Given the description of an element on the screen output the (x, y) to click on. 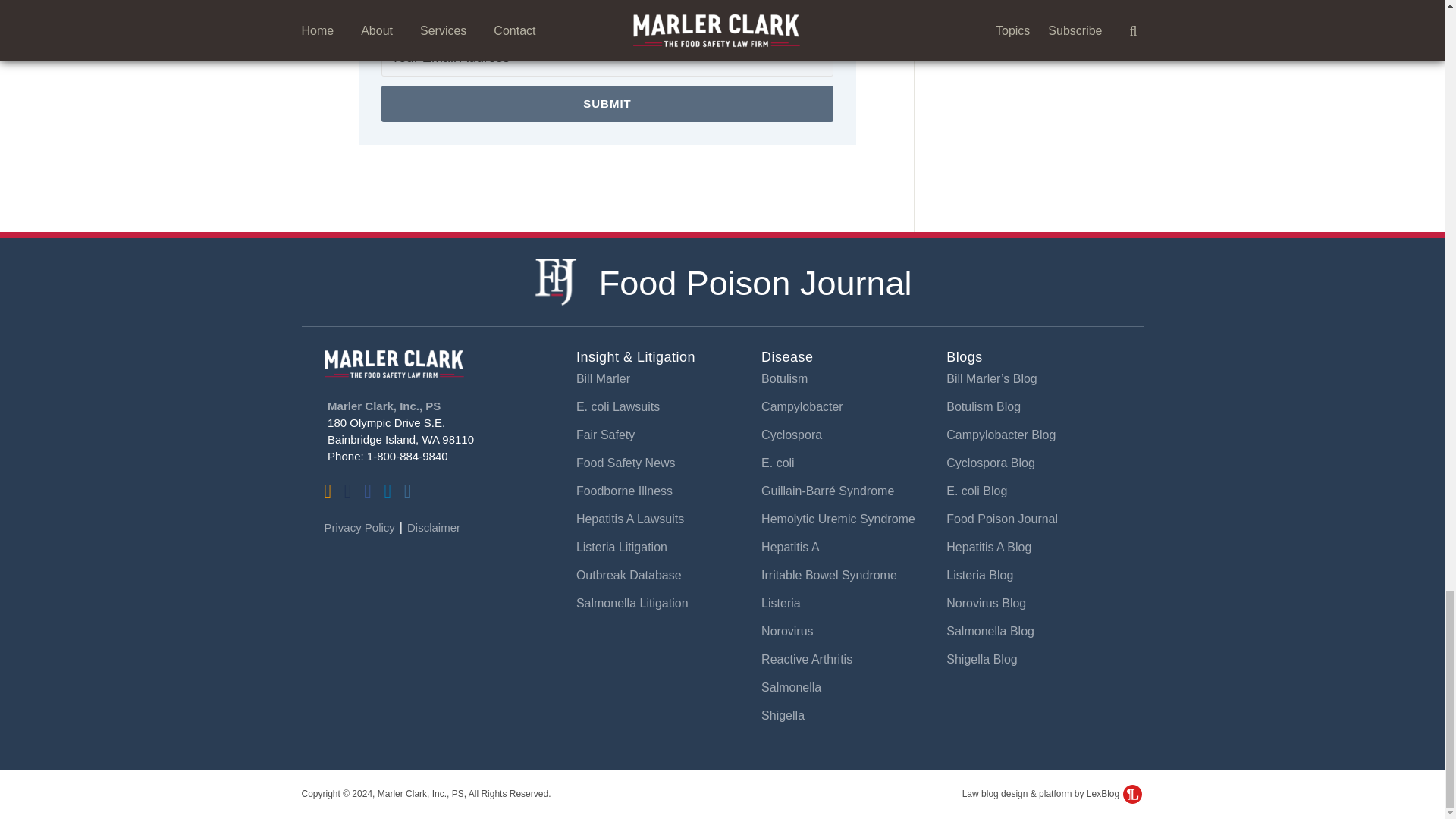
Submit (606, 103)
LexBlog Logo (1131, 793)
Submit (606, 103)
